Given the description of an element on the screen output the (x, y) to click on. 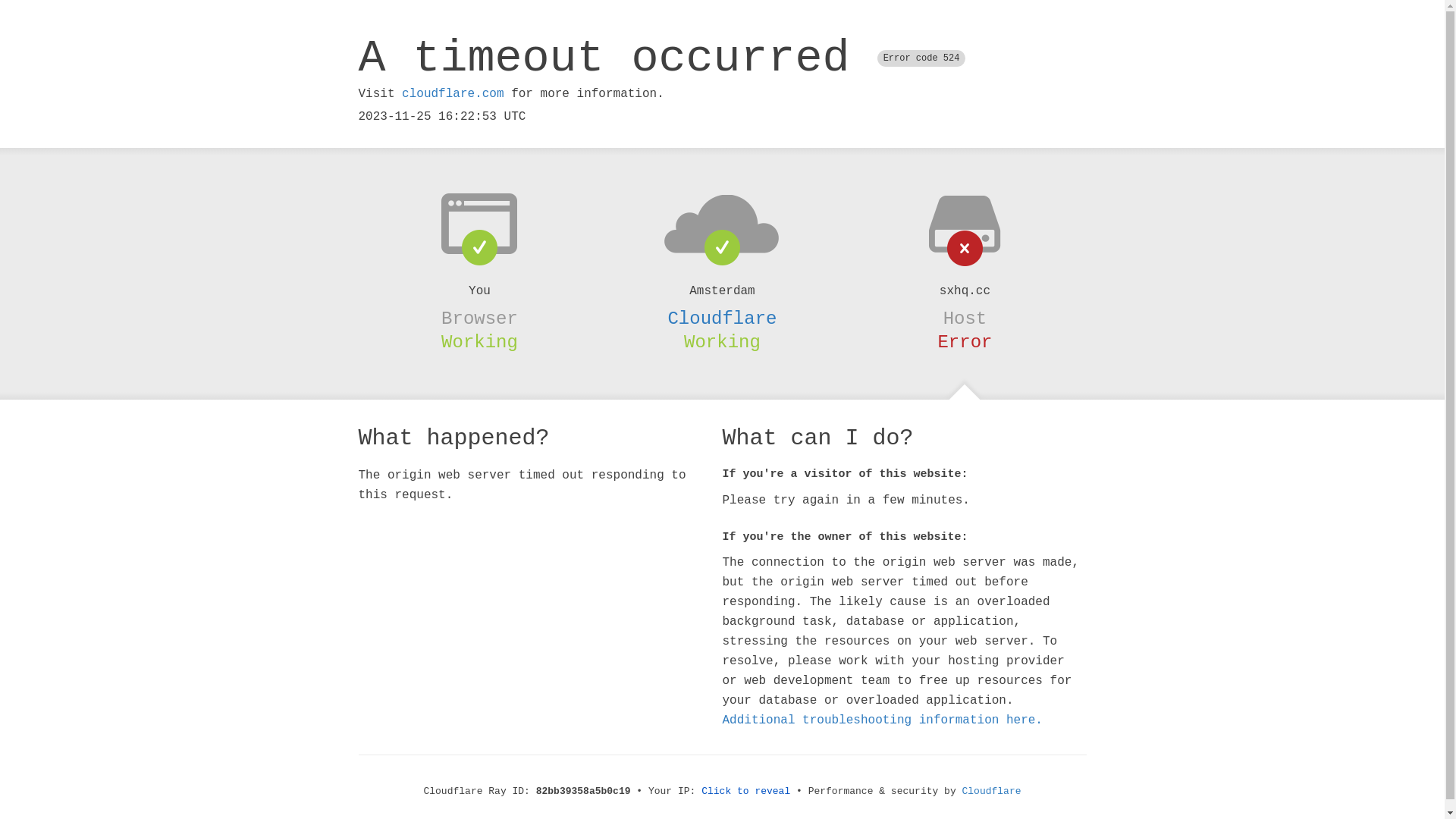
Cloudflare Element type: text (721, 318)
Cloudflare Element type: text (991, 791)
Additional troubleshooting information here. Element type: text (881, 720)
Click to reveal Element type: text (745, 791)
cloudflare.com Element type: text (452, 93)
